Given the description of an element on the screen output the (x, y) to click on. 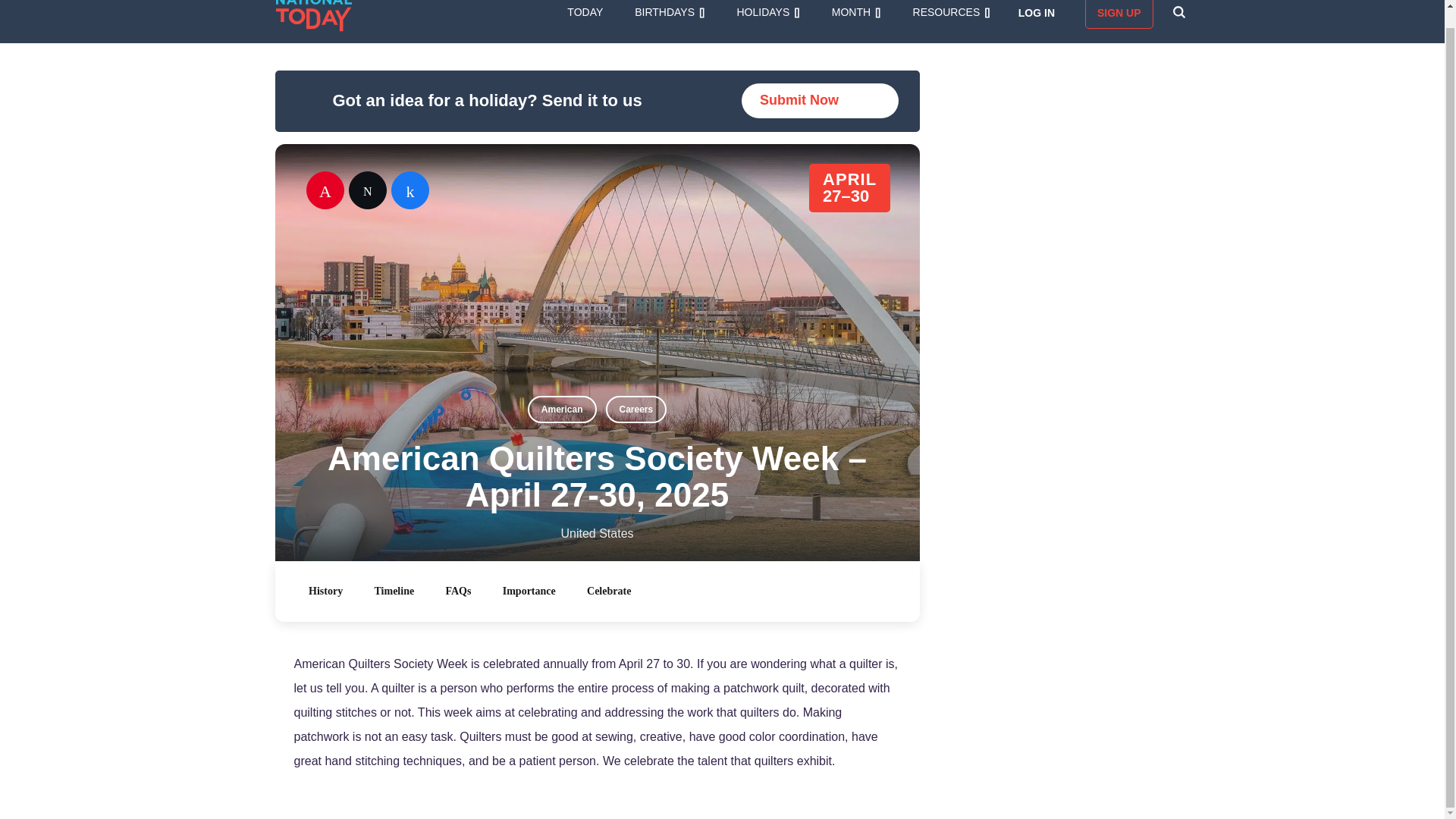
SEARCH (1178, 11)
National Today (314, 15)
National Today (314, 15)
HOLIDAYS (767, 11)
MONTH (855, 11)
BIRTHDAYS (669, 11)
TODAY (584, 11)
